Given the description of an element on the screen output the (x, y) to click on. 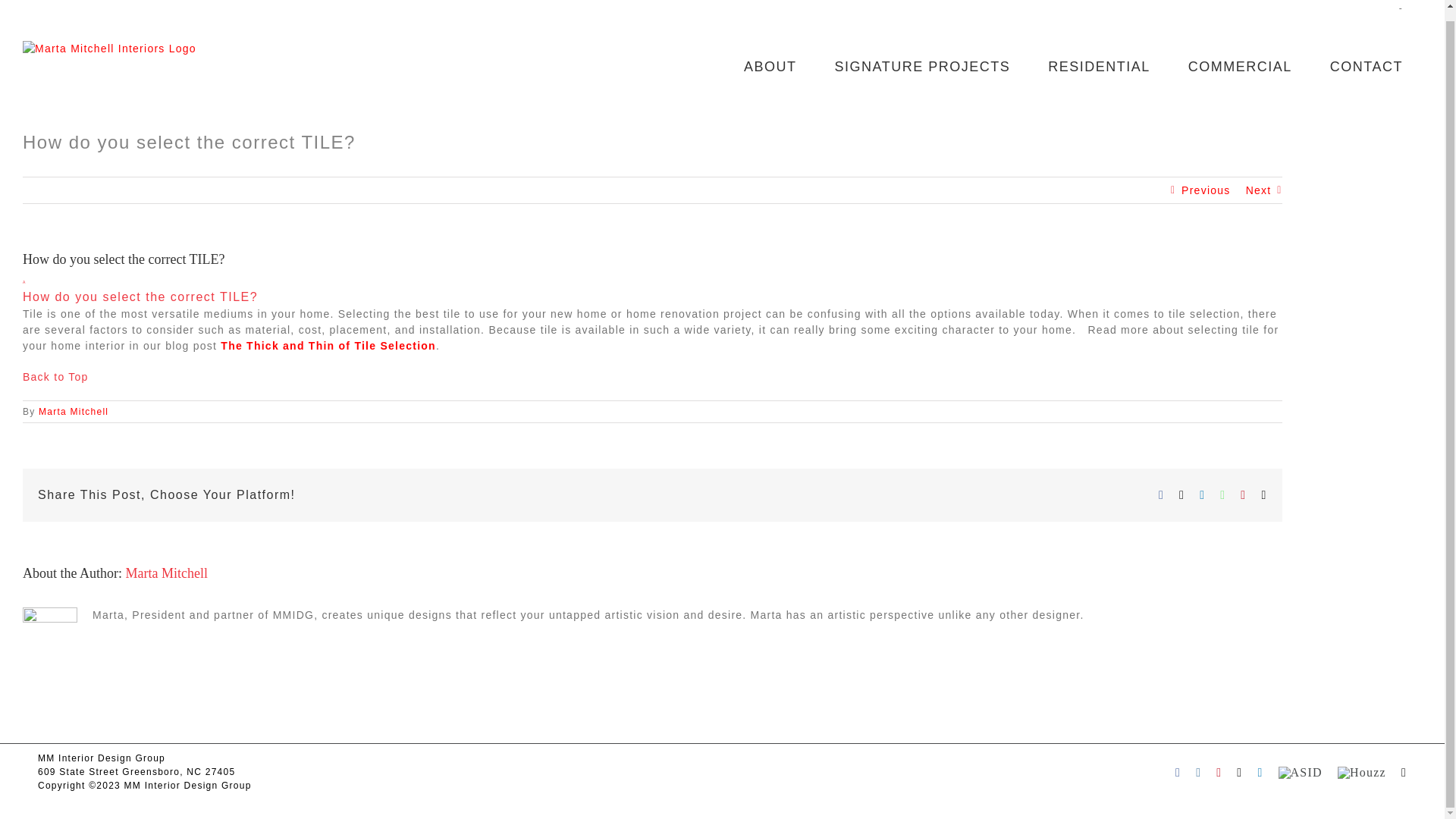
RESIDENTIAL (1099, 66)
Next (1258, 190)
Marta Mitchell (73, 411)
COMMERCIAL (1240, 66)
CONTACT (1366, 66)
The Thick and Thin of Tile Selection (328, 345)
Back to Top (652, 288)
Posts by Marta Mitchell (55, 377)
Marta Mitchell (166, 572)
SIGNATURE PROJECTS (166, 572)
Posts by Marta Mitchell (922, 66)
Previous (73, 411)
